Given the description of an element on the screen output the (x, y) to click on. 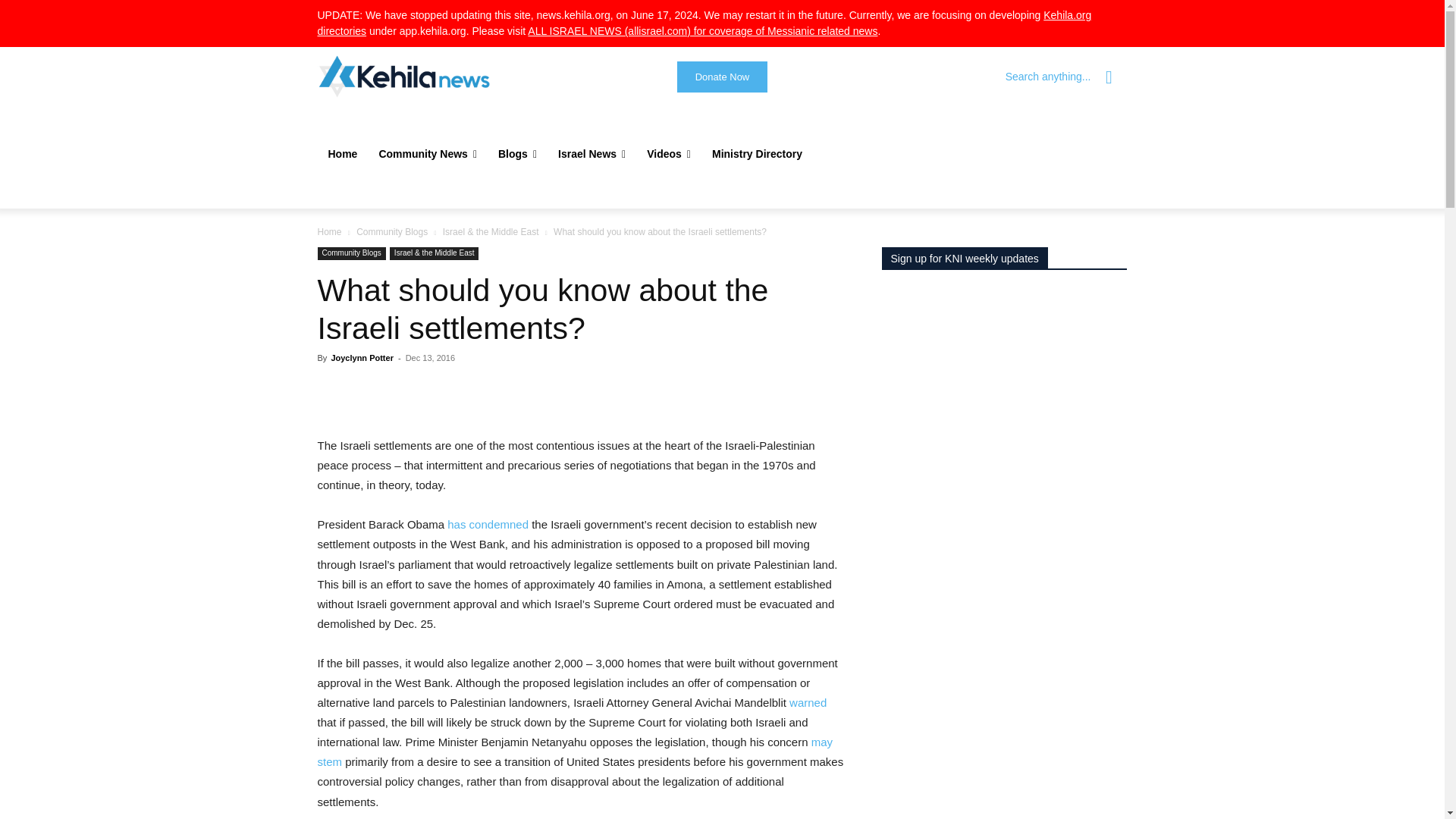
Kehila.org directories (703, 22)
Donate Now (722, 76)
